Given the description of an element on the screen output the (x, y) to click on. 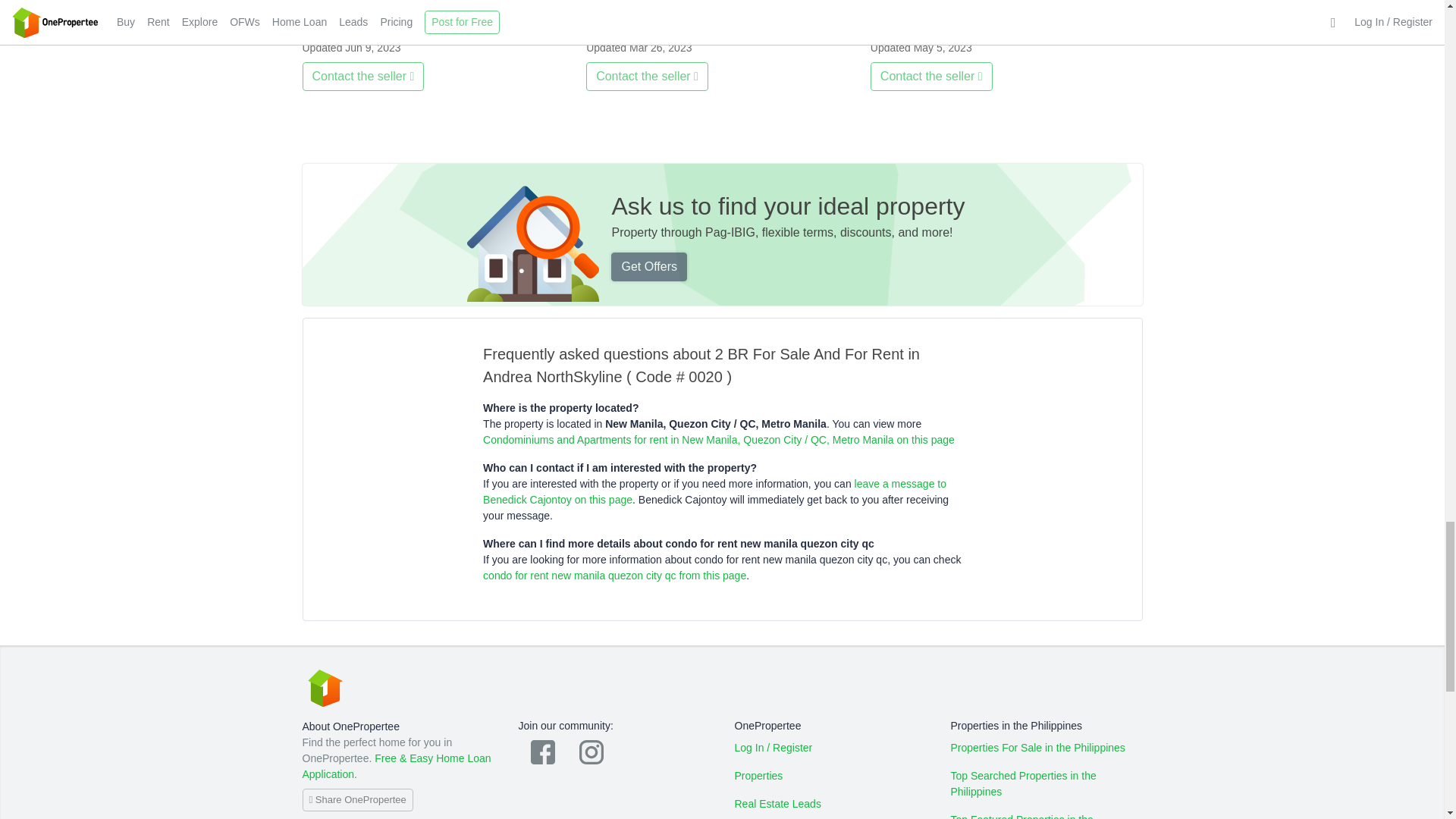
Join the Facebook page of OnePropertee (542, 751)
Join the Instagram page of OnePropertee (591, 751)
